Given the description of an element on the screen output the (x, y) to click on. 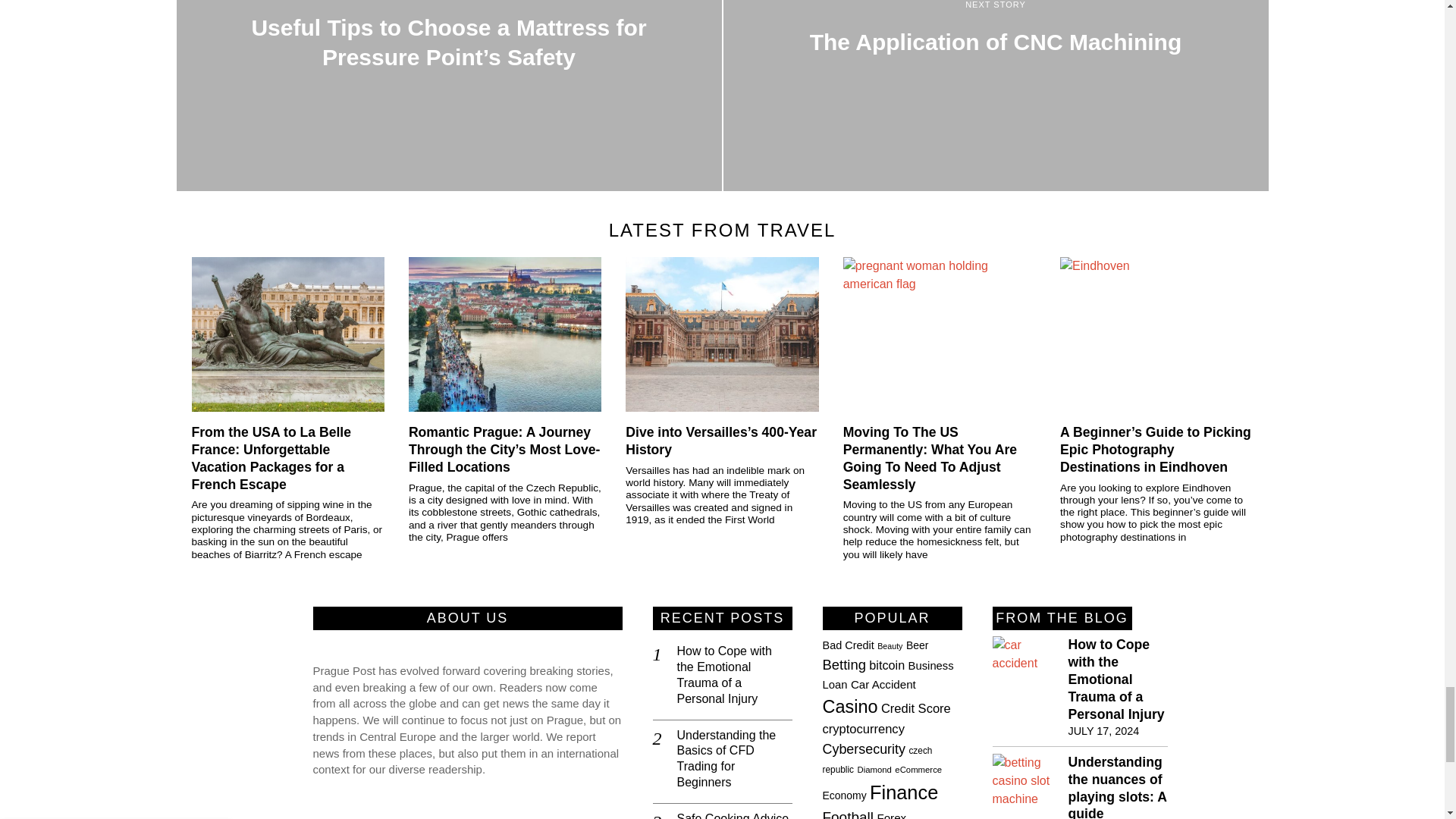
17 Jul, 2024 02:55:10 (1102, 730)
